Given the description of an element on the screen output the (x, y) to click on. 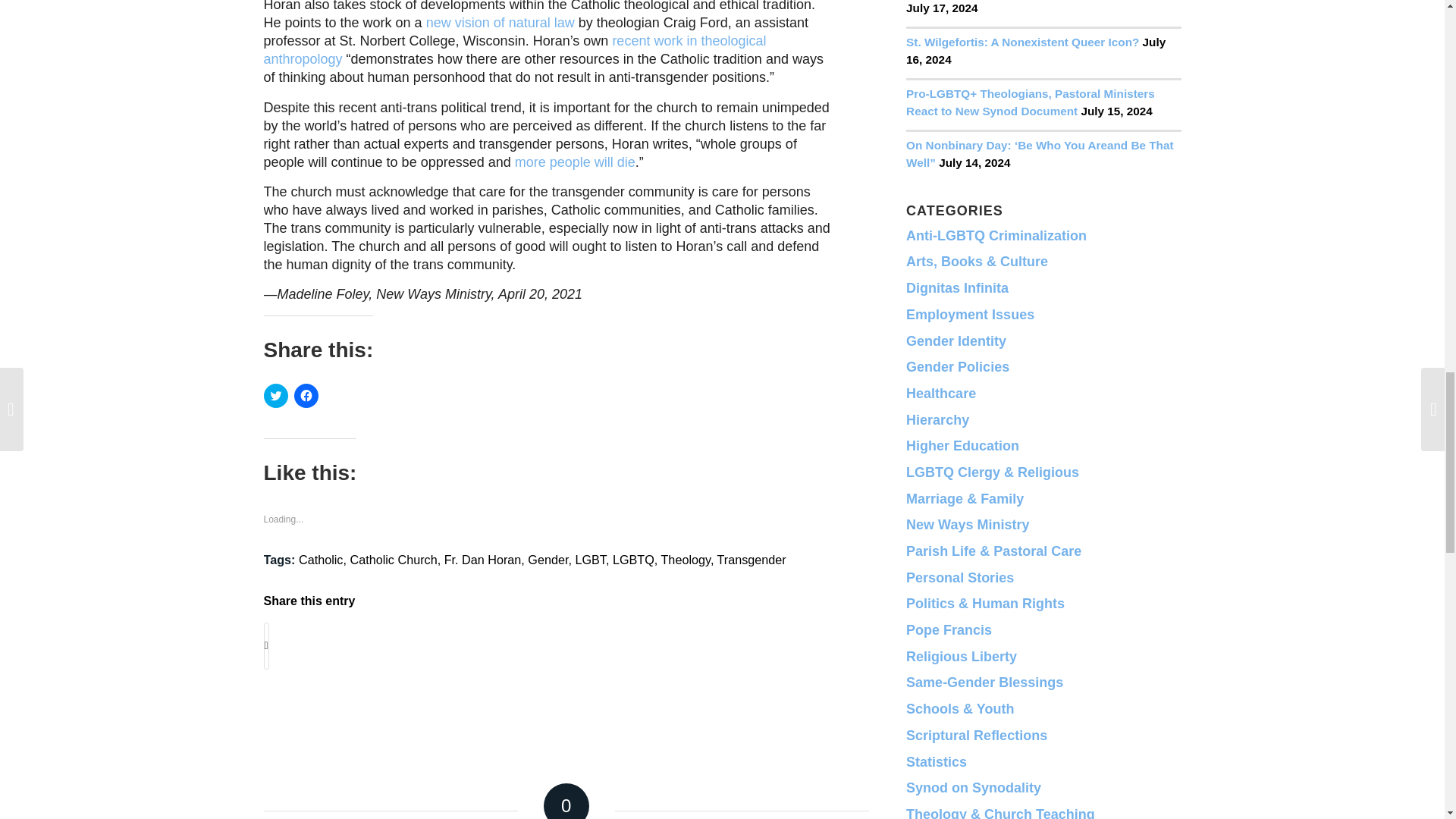
Click to share on Twitter (275, 395)
Click to share on Facebook (306, 395)
